Given the description of an element on the screen output the (x, y) to click on. 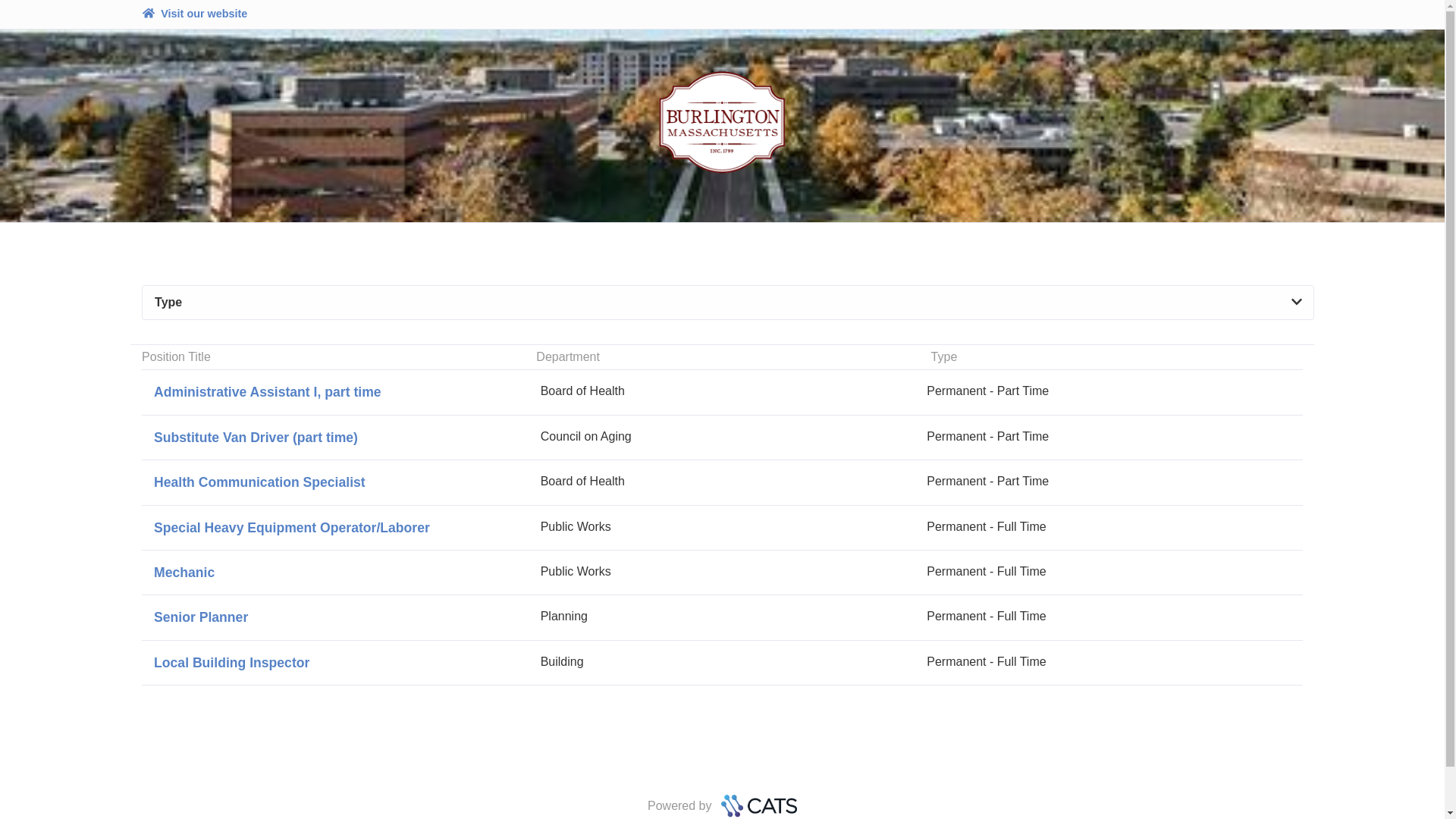
Type (727, 303)
Visit our website (722, 662)
